Given the description of an element on the screen output the (x, y) to click on. 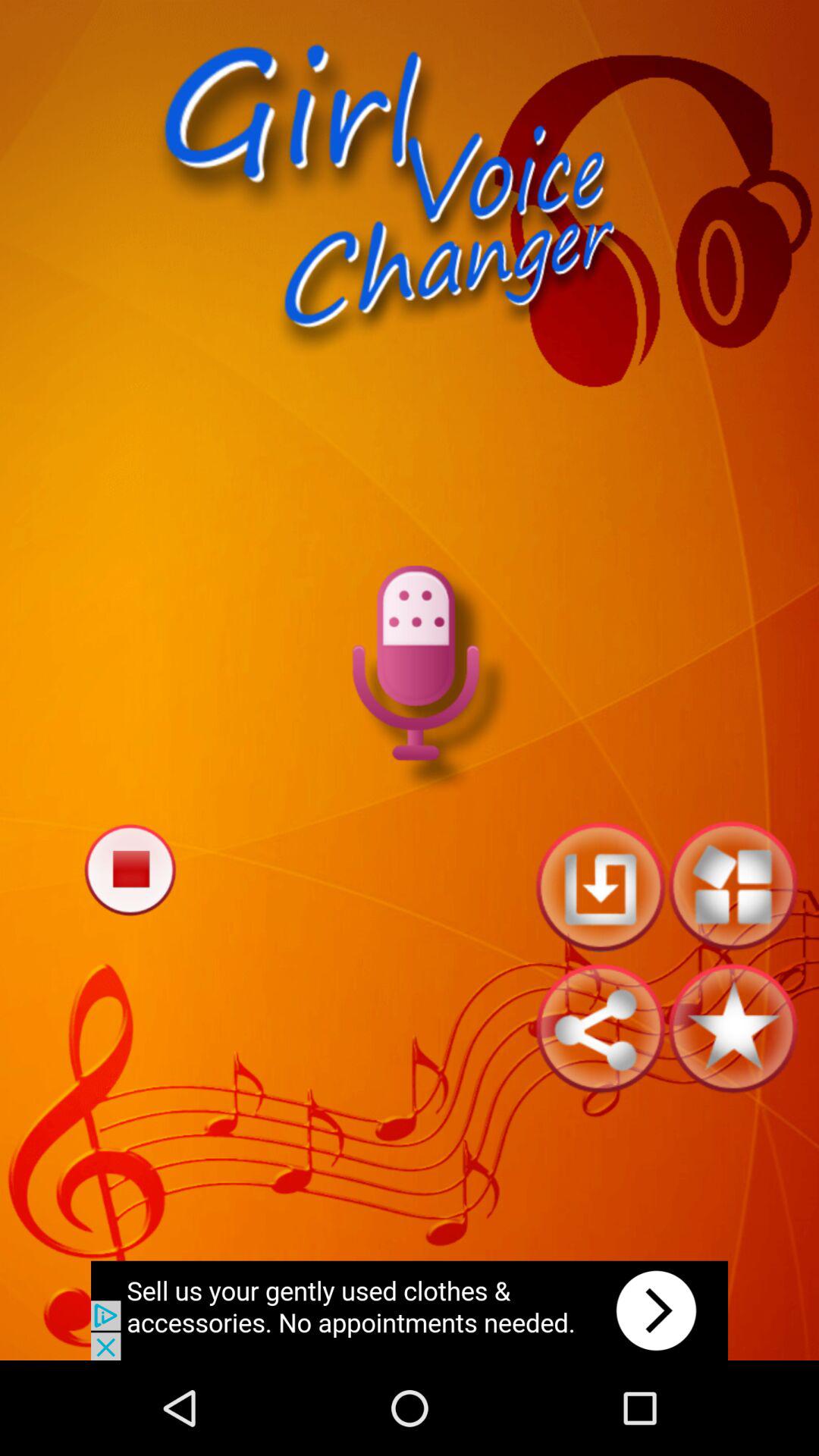
share (600, 1028)
